Given the description of an element on the screen output the (x, y) to click on. 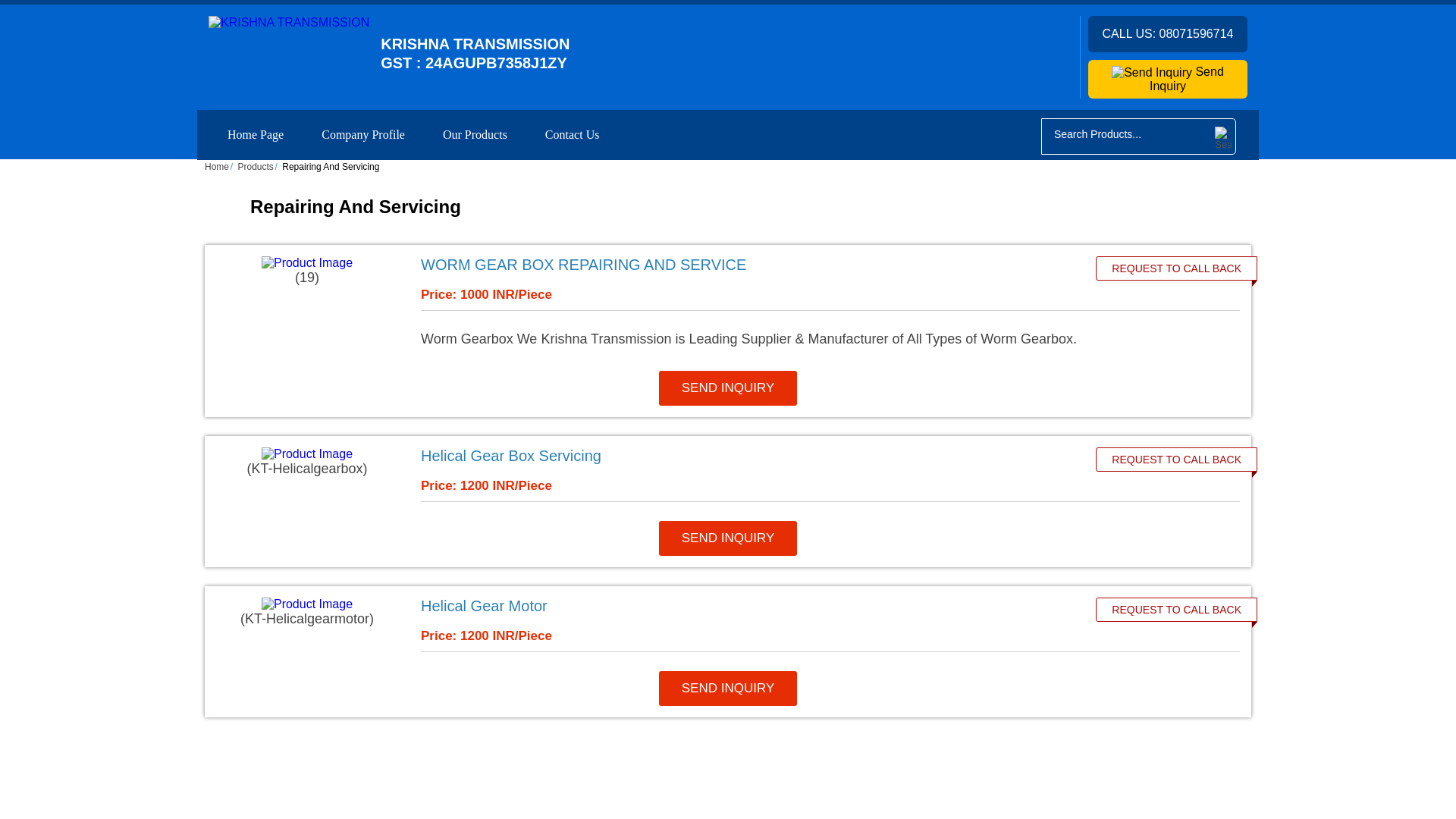
Send Inquiry (1168, 78)
WORM GEAR BOX REPAIRING AND SERVICE (747, 264)
Helical Gear Motor (747, 606)
Helical Gear Box Servicing (747, 456)
Home Page (255, 134)
Our Products (474, 134)
Search Products... (1126, 133)
Search Products... (1126, 133)
Company Profile (362, 134)
